Given the description of an element on the screen output the (x, y) to click on. 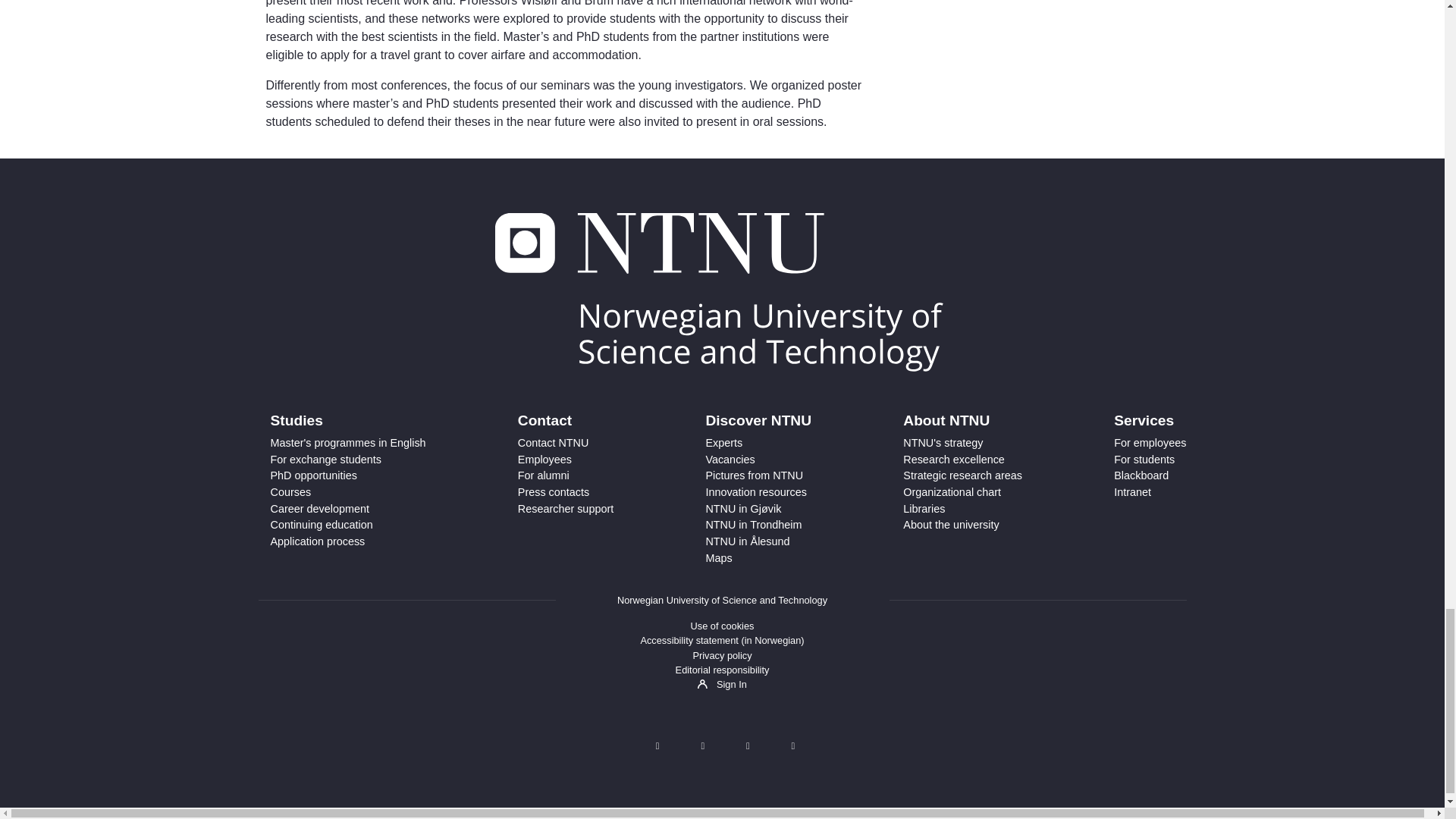
NTNUs offisielle Instagramkonto (747, 746)
Facebooksider fra NTNU (702, 746)
NTNUs offisielle X-konto (657, 746)
NTNUs Youtubekonto (792, 746)
